Given the description of an element on the screen output the (x, y) to click on. 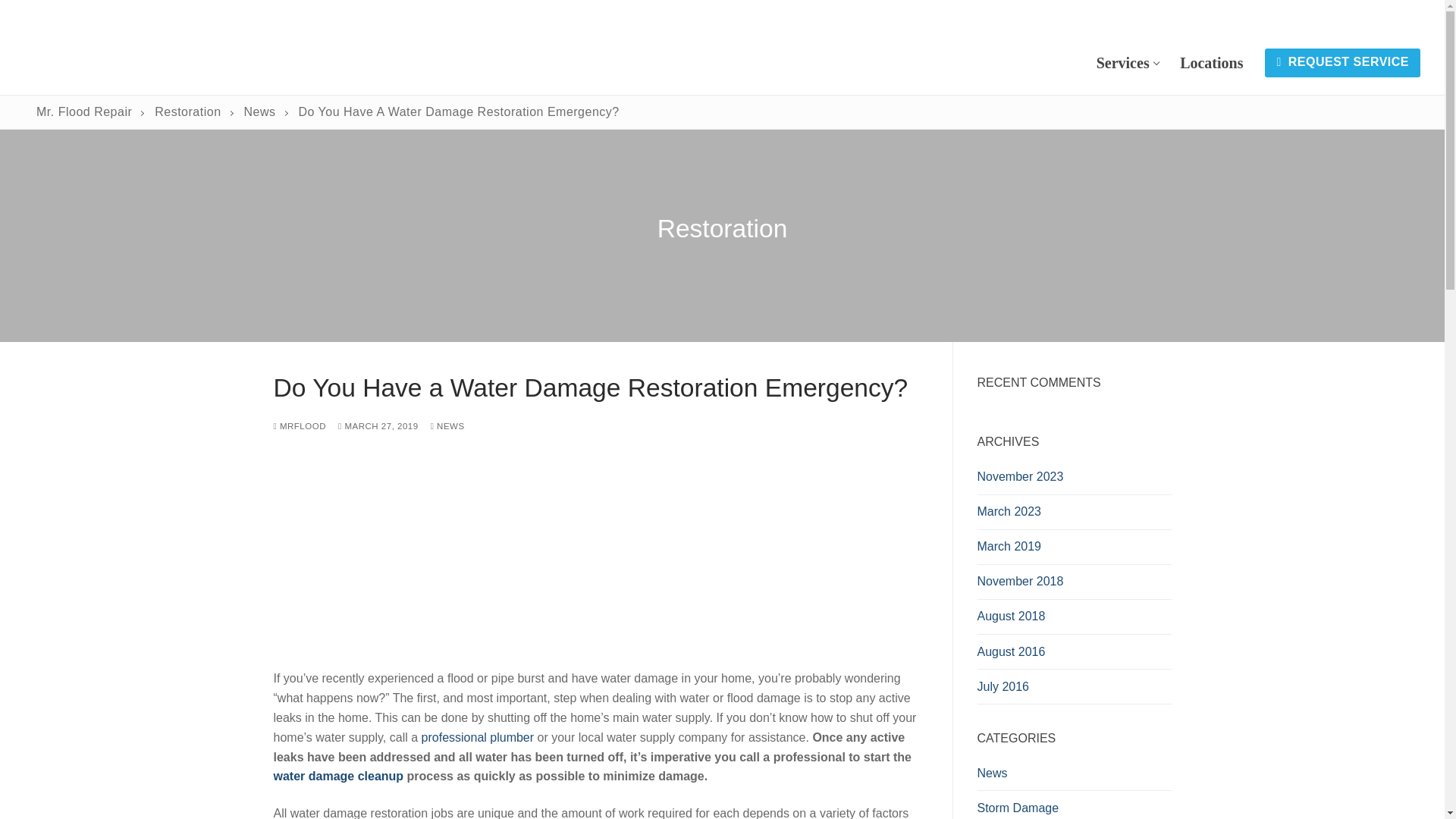
professional plumber (478, 737)
NEWS (447, 425)
Restoration (187, 111)
Go to the News Category archives. (260, 111)
News (260, 111)
Go to Restoration. (187, 111)
MARCH 27, 2019 (378, 425)
Locations (1211, 62)
Go to Mr. Flood Repair. (84, 111)
Mr. Flood Repair (84, 111)
